Given the description of an element on the screen output the (x, y) to click on. 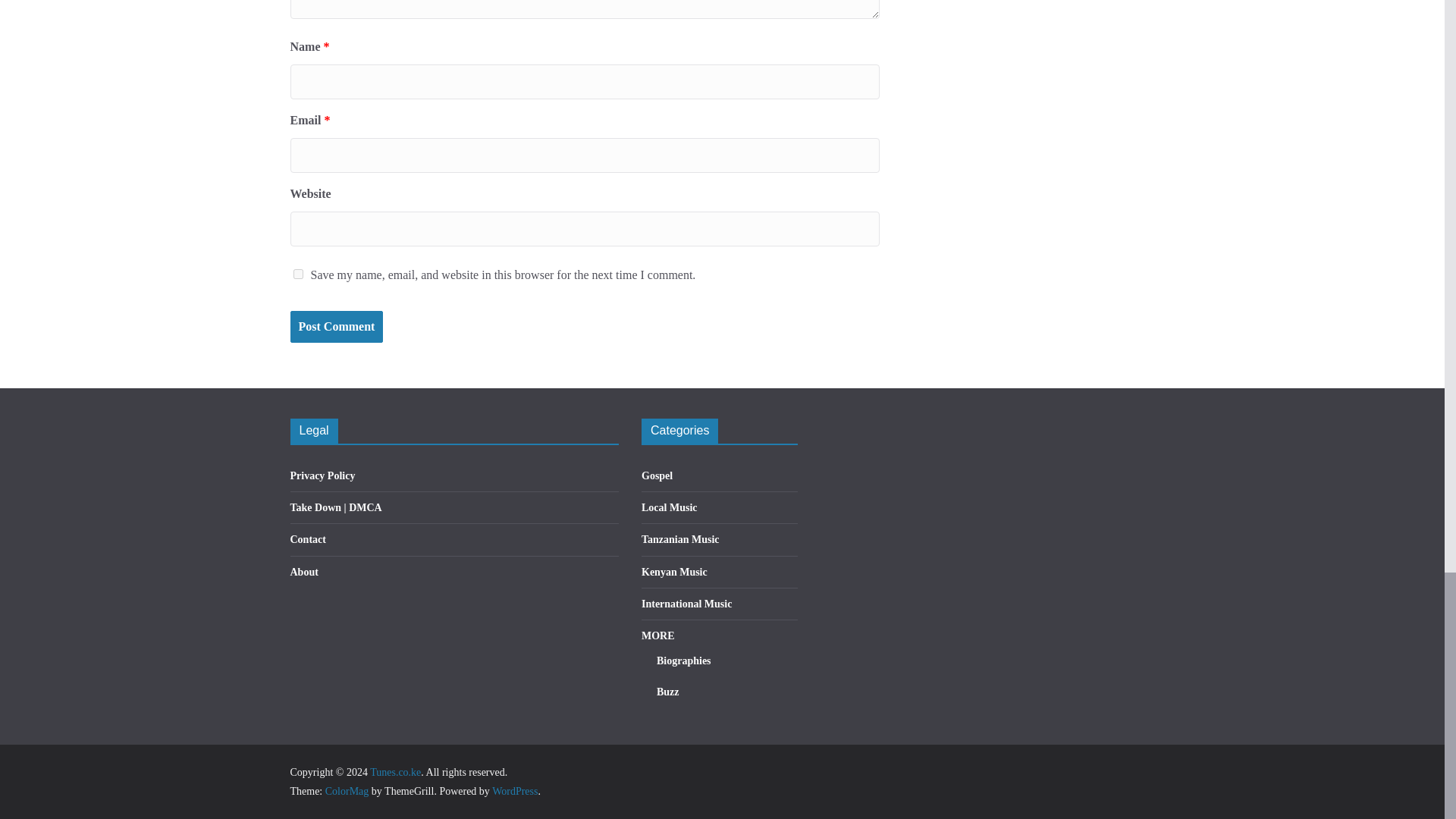
yes (297, 274)
Post Comment (335, 327)
